Given the description of an element on the screen output the (x, y) to click on. 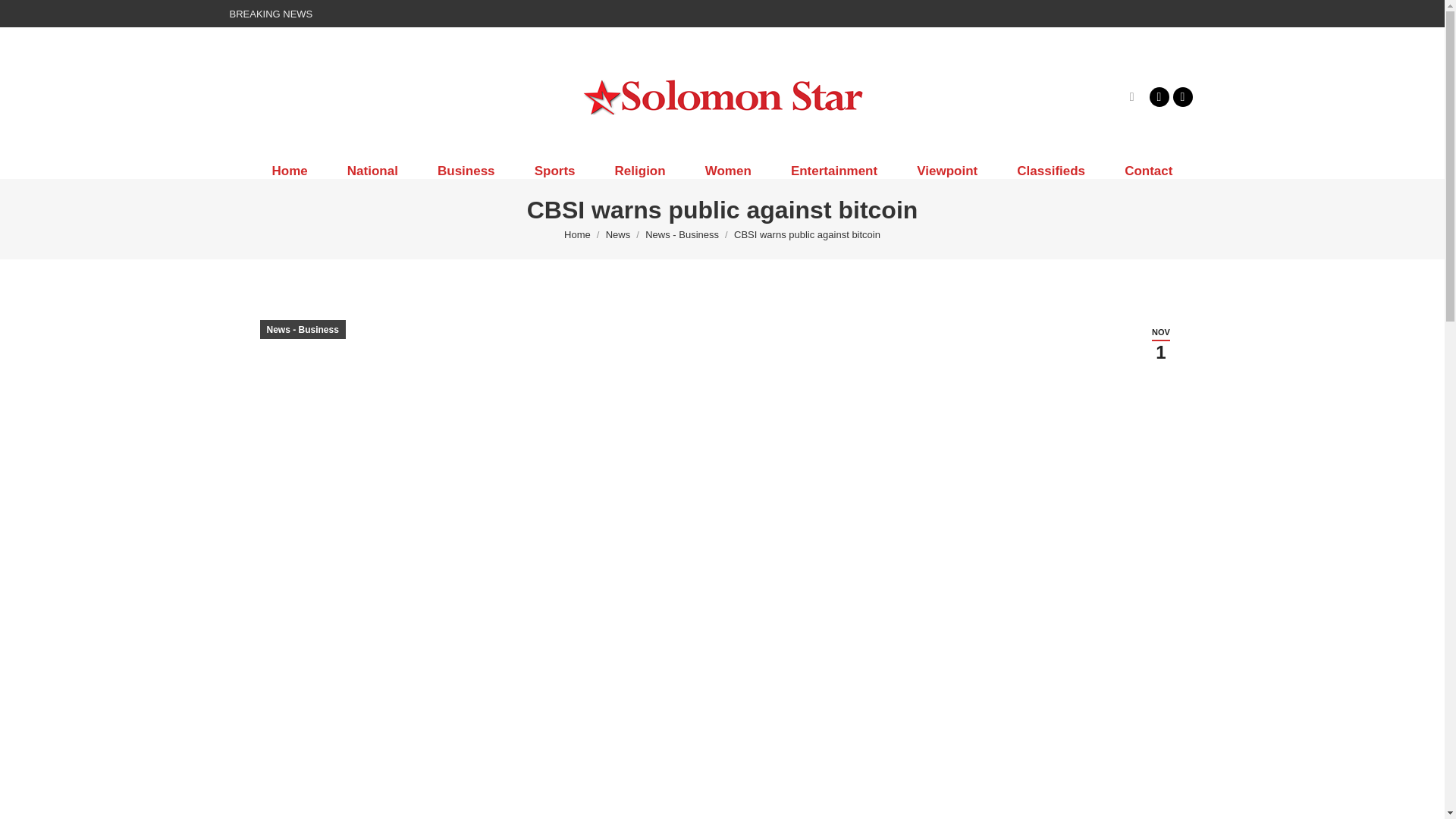
News - Business (682, 234)
Classifieds (1051, 170)
Facebook page opens in new window (1161, 343)
Facebook page opens in new window (1159, 96)
News - Business (1159, 96)
Religion (682, 234)
Home (640, 170)
Contact (288, 170)
News (1148, 170)
